Given the description of an element on the screen output the (x, y) to click on. 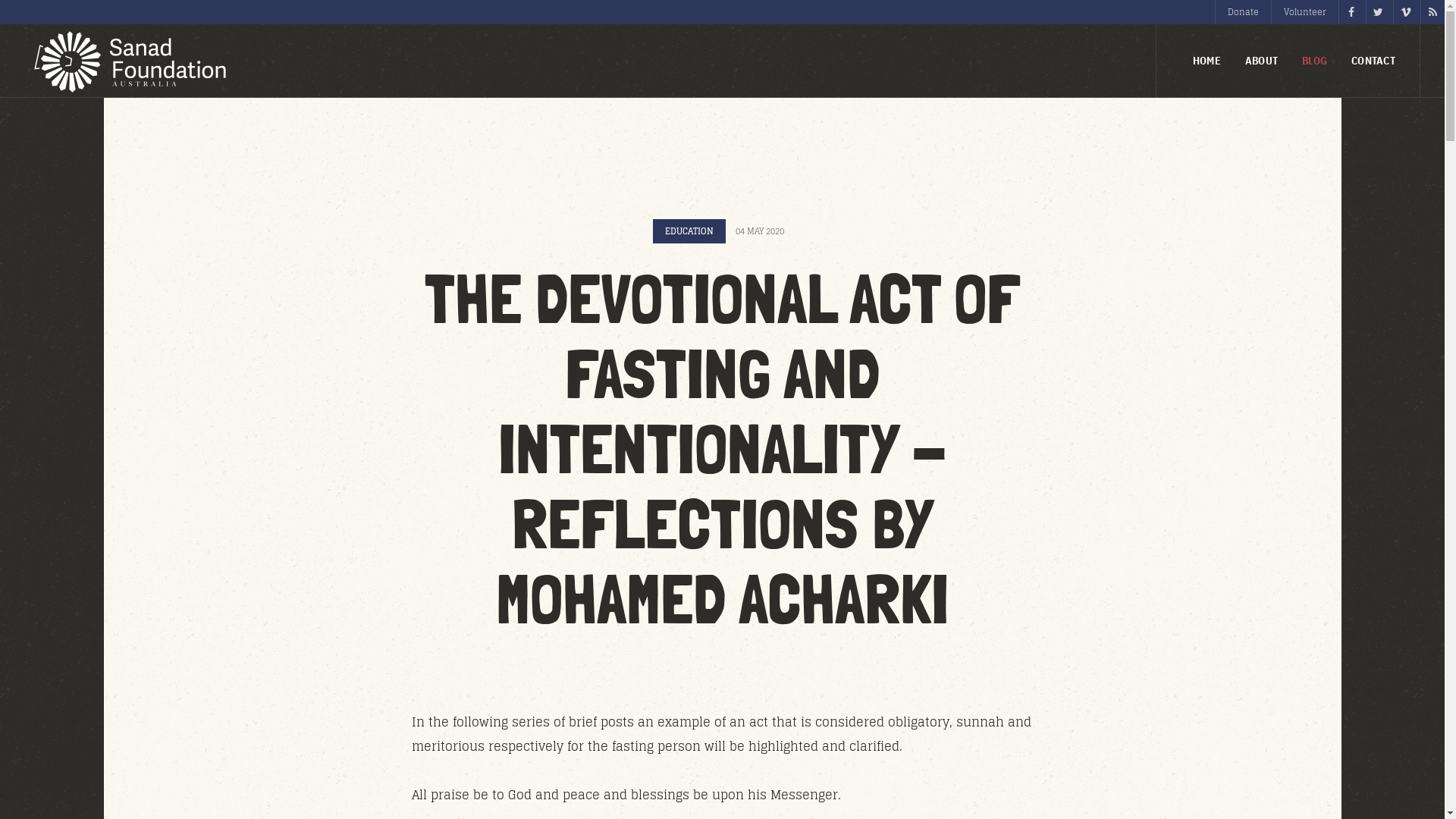
Donate Element type: text (1242, 12)
facebook Element type: hover (1350, 12)
twitter Element type: hover (1377, 12)
vimeo Element type: hover (1405, 12)
HOME Element type: text (1206, 60)
BLOG Element type: text (1314, 60)
EDUCATION Element type: text (688, 231)
Sanad Foundation Element type: hover (128, 62)
CONTACT Element type: text (1373, 60)
rss Element type: hover (1432, 12)
ABOUT Element type: text (1261, 60)
Volunteer Element type: text (1304, 12)
